Given the description of an element on the screen output the (x, y) to click on. 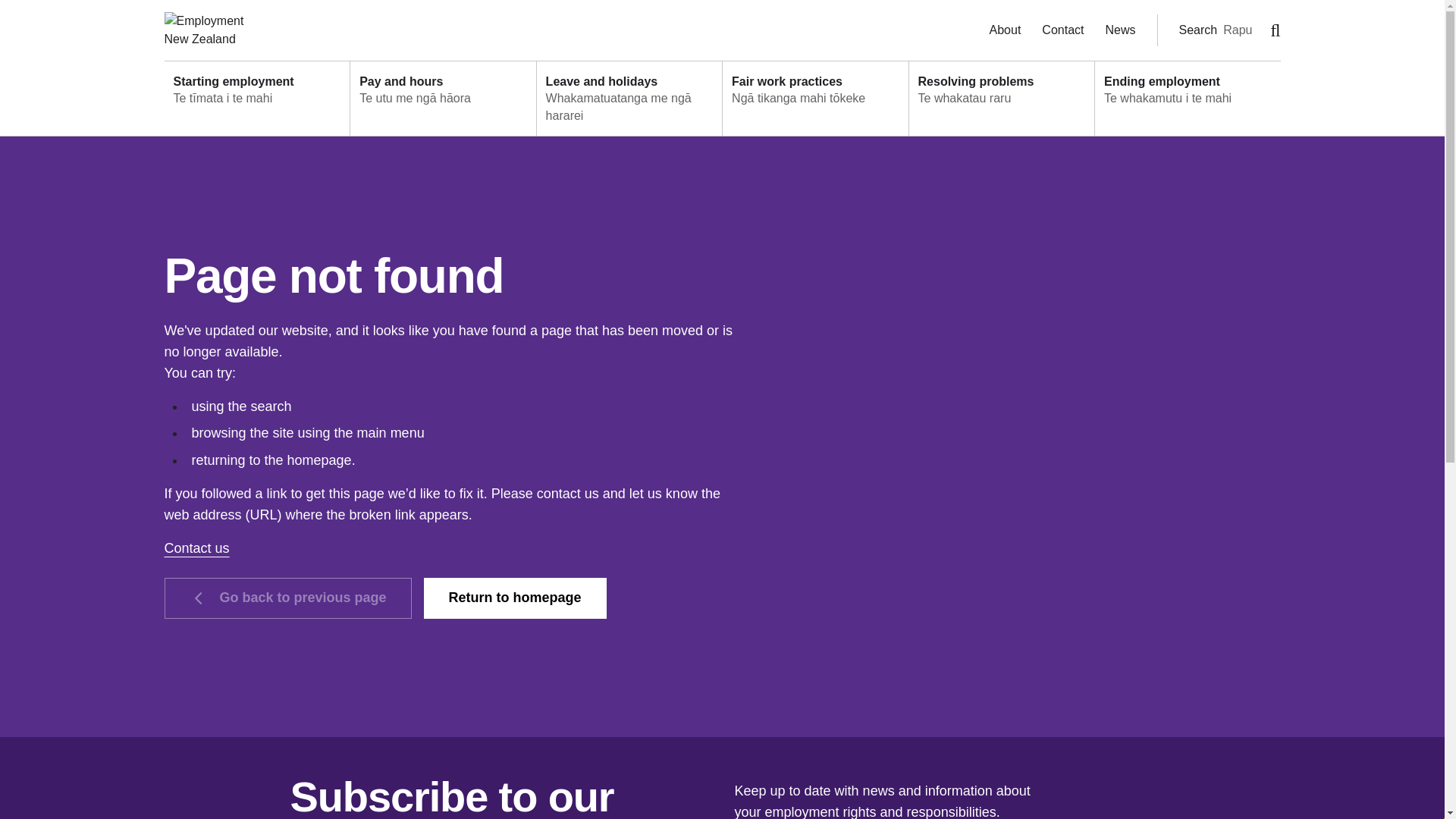
Display Starting employment submenu (256, 98)
News (1120, 29)
About (1006, 29)
Contact (1062, 29)
